Given the description of an element on the screen output the (x, y) to click on. 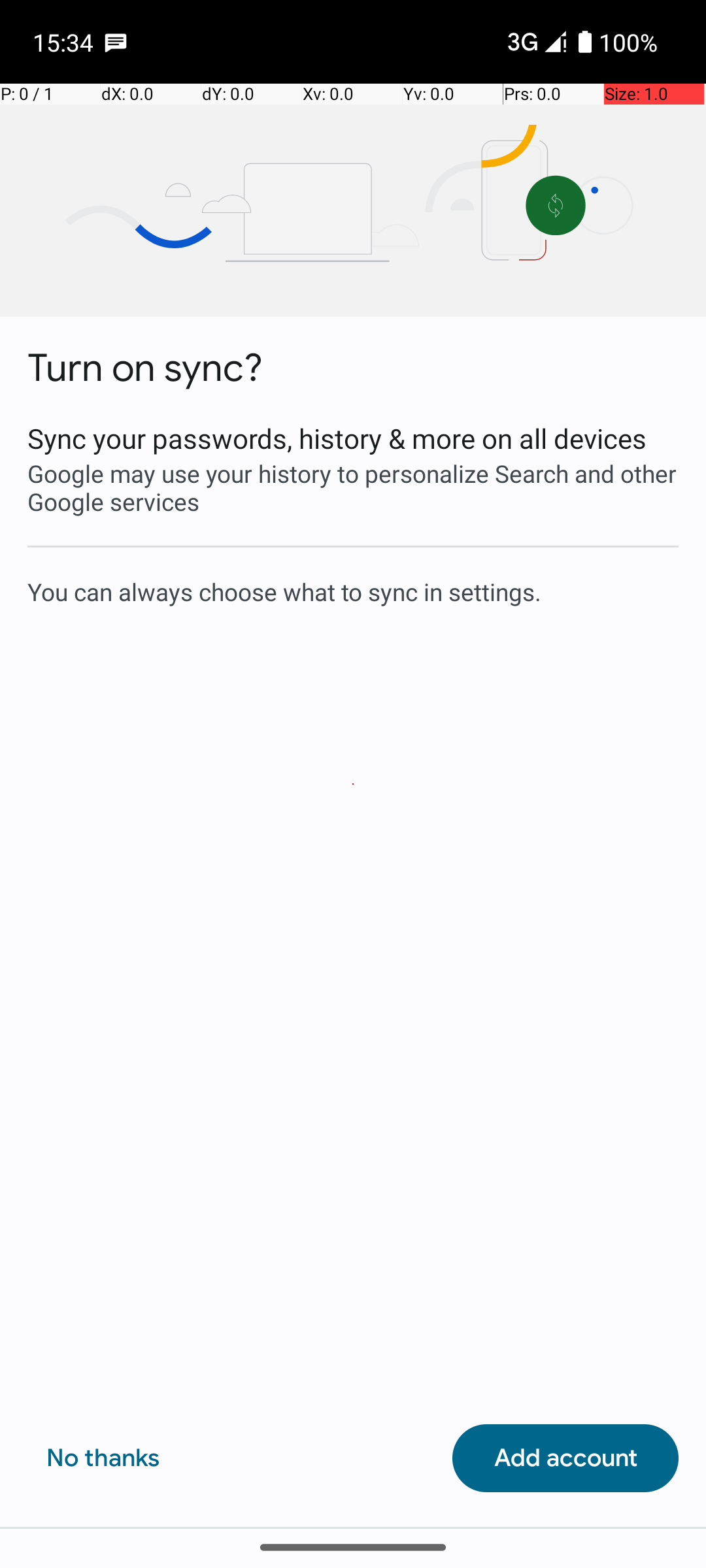
No thanks Element type: android.widget.Button (102, 1458)
Add account Element type: android.widget.Button (565, 1458)
Turn on sync? Element type: android.widget.TextView (144, 368)
Sync your passwords, history & more on all devices Element type: android.widget.TextView (352, 437)
Google may use your history to personalize Search and other Google services Element type: android.widget.TextView (352, 487)
You can always choose what to sync in settings. Element type: android.widget.TextView (352, 591)
